Given the description of an element on the screen output the (x, y) to click on. 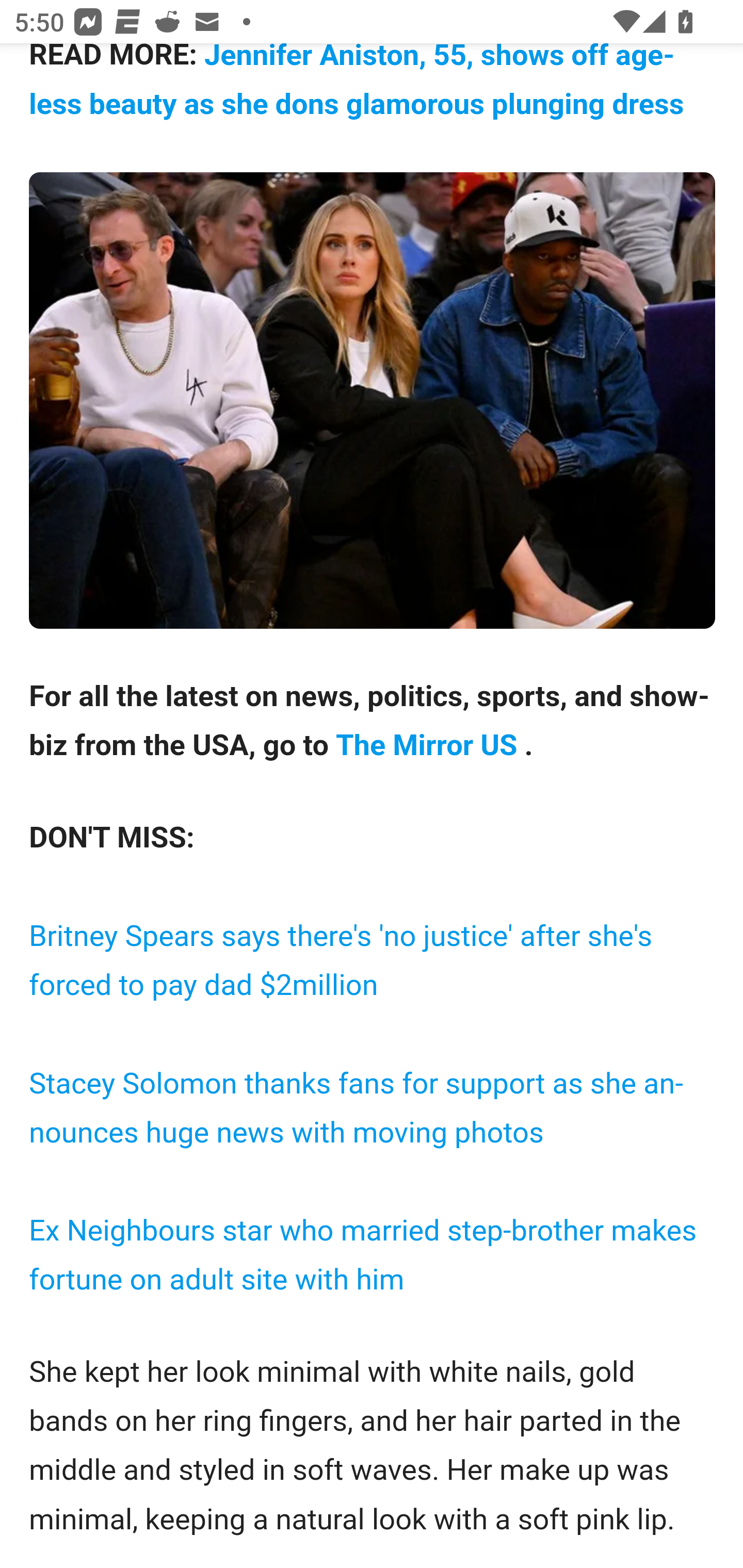
The couple sat courtside together at the game (372, 400)
The Mirror US (429, 745)
